Given the description of an element on the screen output the (x, y) to click on. 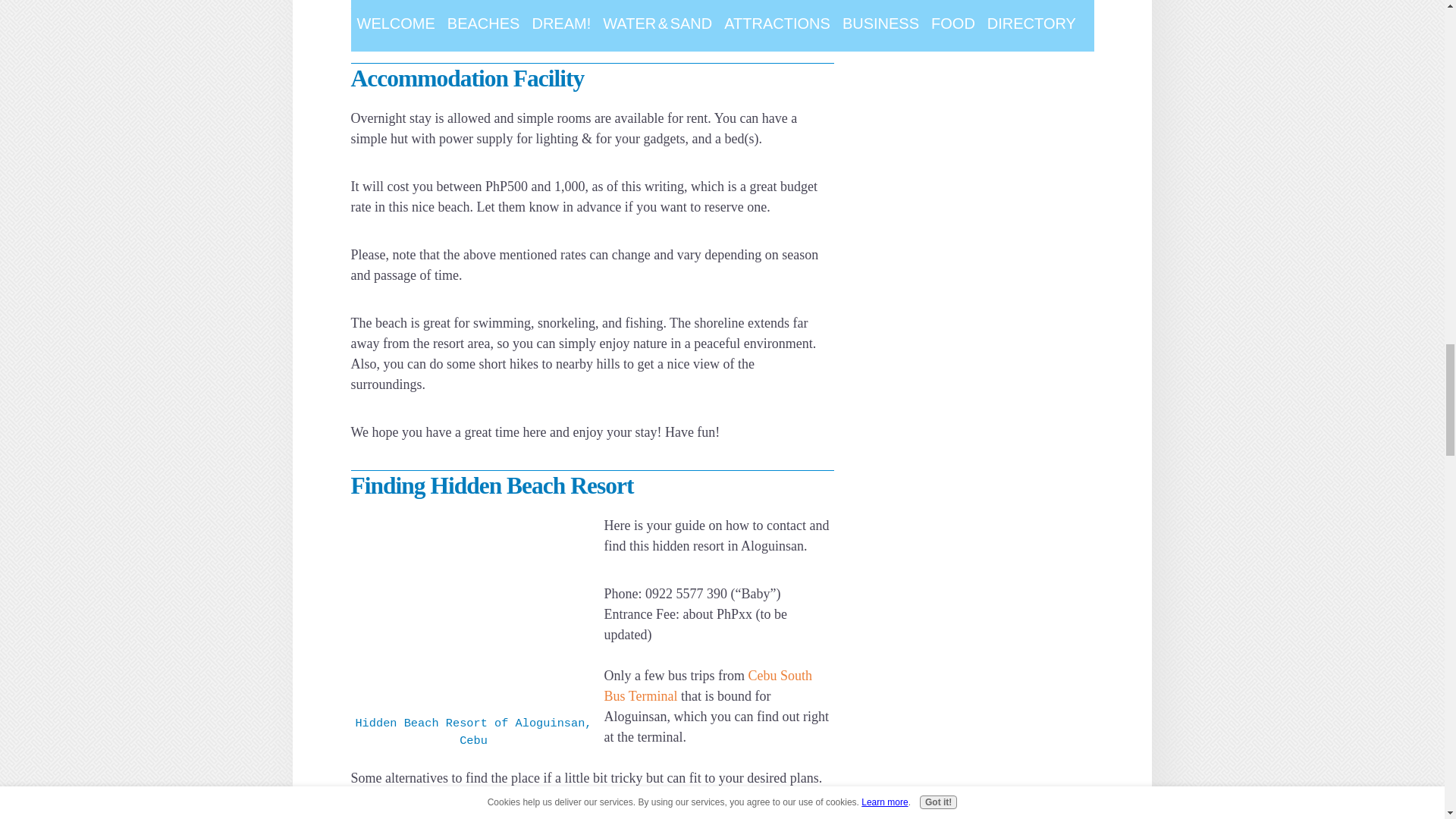
Hidden Beach, Aloguinsan (472, 614)
